Given the description of an element on the screen output the (x, y) to click on. 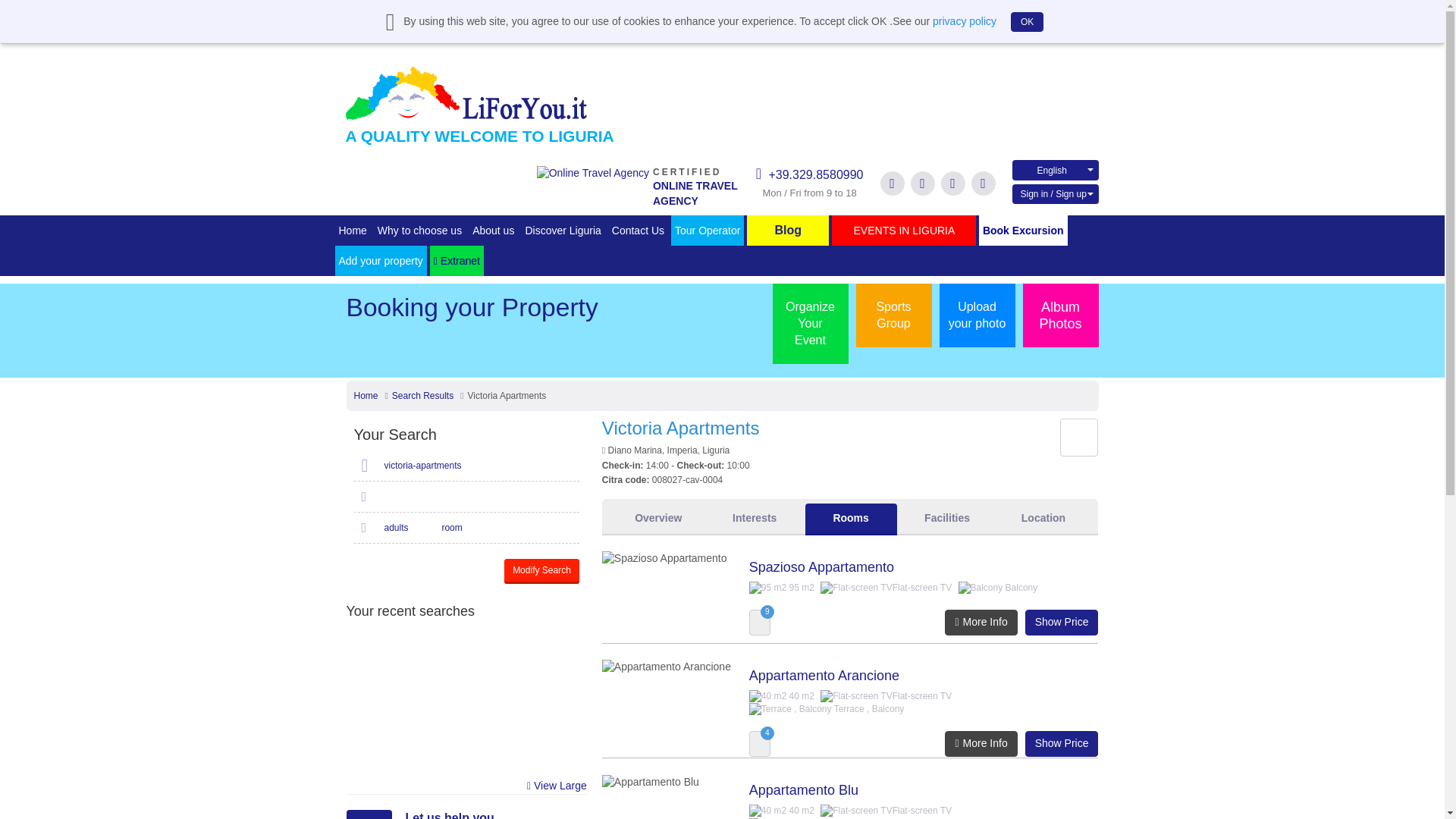
Organize Your Event (809, 323)
Home (365, 395)
Album Photos (1059, 315)
Sports Group (893, 315)
Upload your photo (976, 315)
Search Results (421, 395)
Extranet (456, 260)
A QUALITY WELCOME TO LIGURIA (480, 103)
       Blog        (787, 230)
Contact Us (638, 230)
About us (493, 230)
Tour Operator (593, 173)
Tour Operator (707, 230)
Facebook (707, 230)
